Given the description of an element on the screen output the (x, y) to click on. 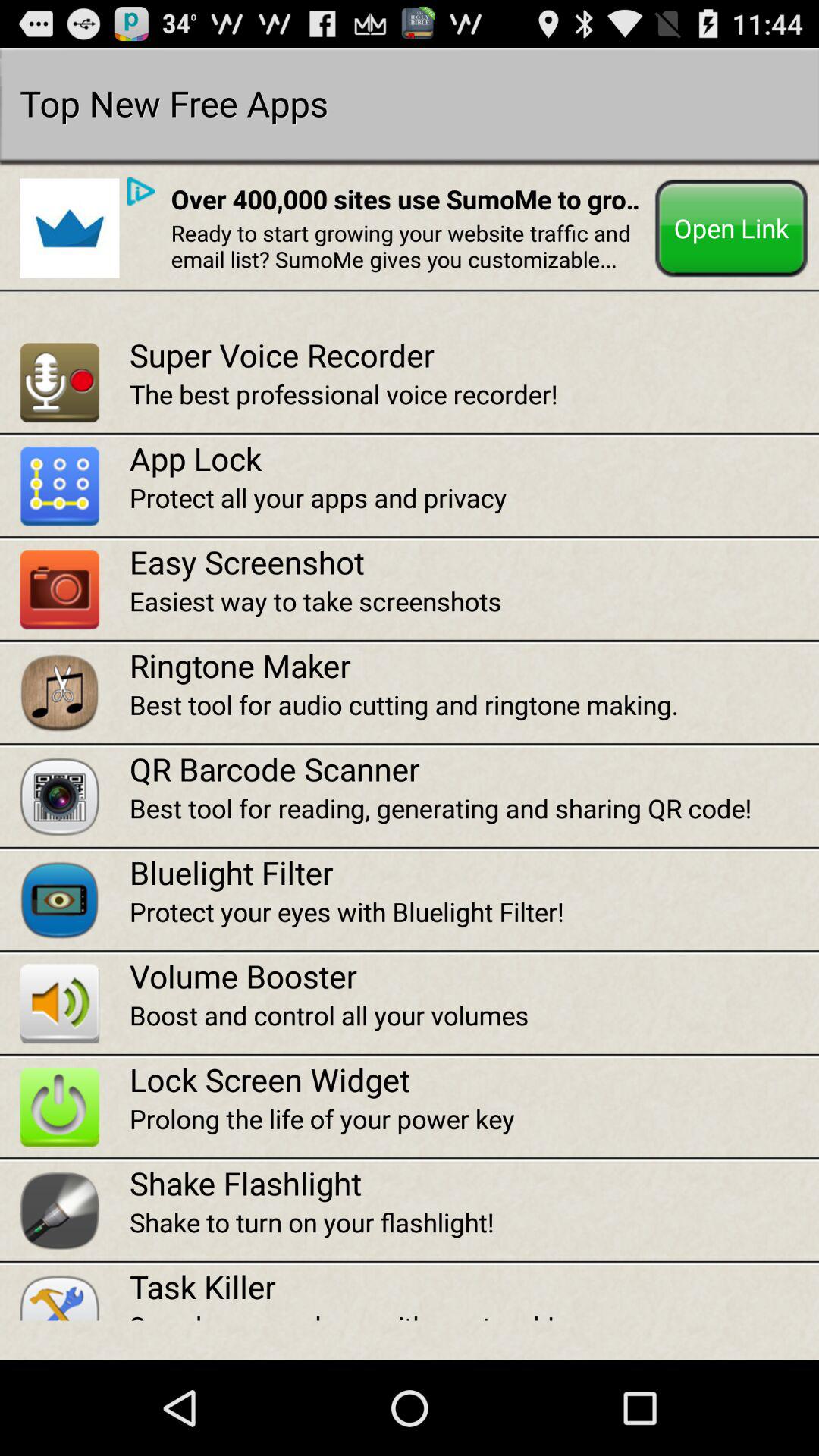
open the icon above the app lock (474, 393)
